Given the description of an element on the screen output the (x, y) to click on. 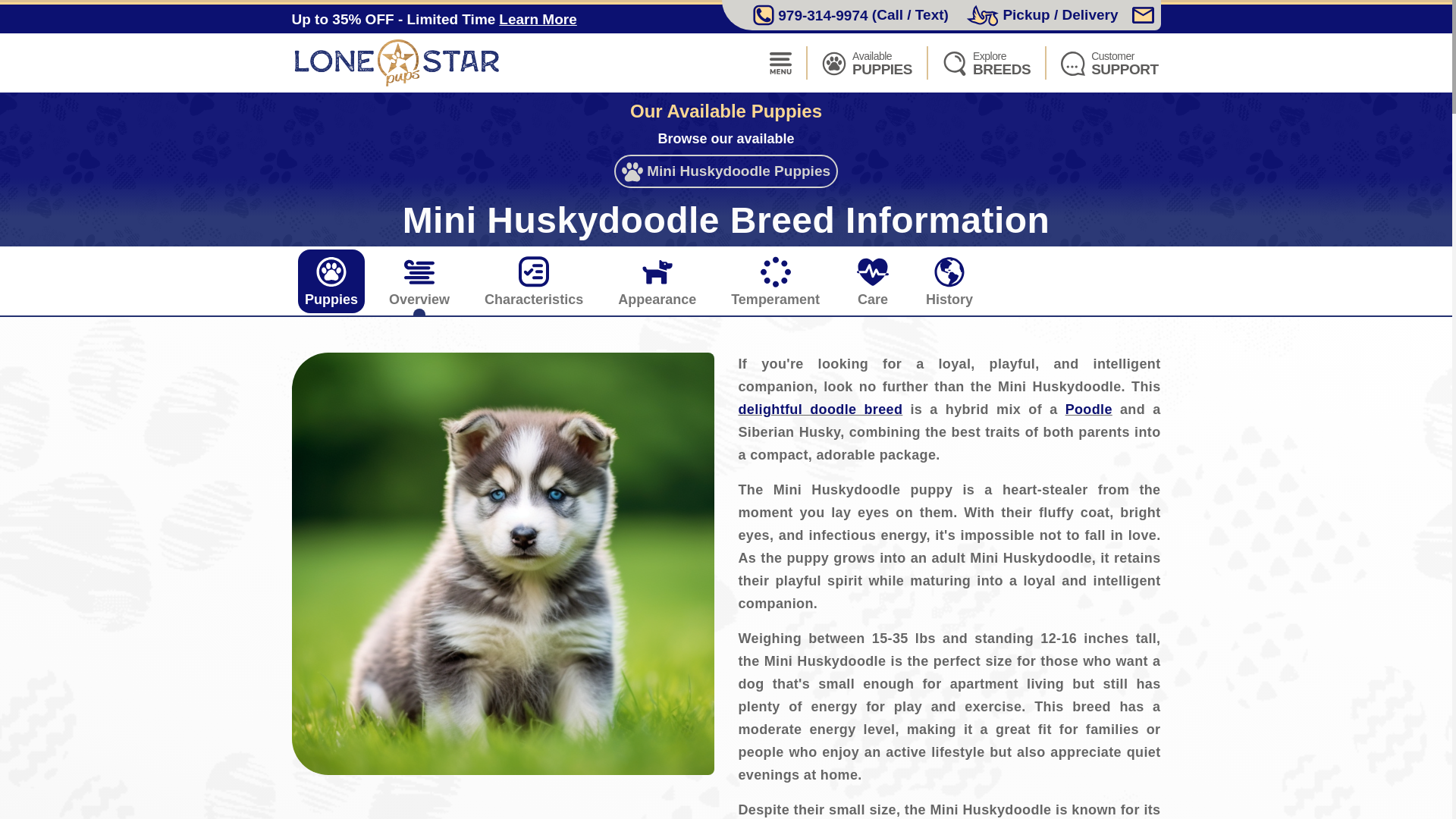
Overview (866, 62)
Puppies (418, 281)
Appearance (331, 280)
Delivery Options (656, 281)
Mini Huskydoodle with blue eyes on green grass (1109, 62)
Poodle (1041, 15)
Lone Star Pups (1088, 409)
Characteristics (986, 62)
Learn More (775, 281)
delightful doodle breed (399, 63)
